Given the description of an element on the screen output the (x, y) to click on. 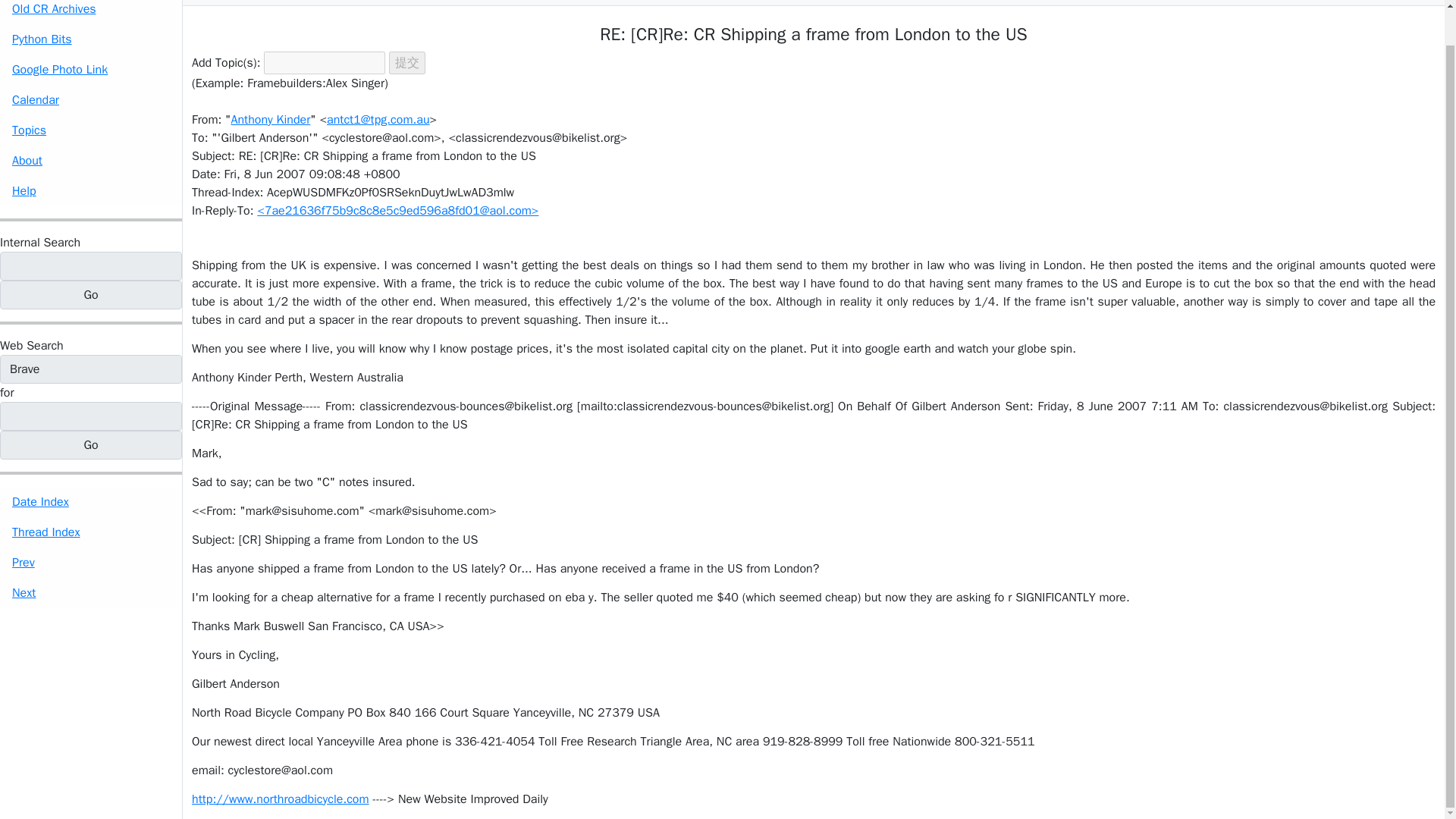
Old CR Archives (91, 12)
Calendar (91, 100)
Anthony Kinder (270, 119)
Go (91, 294)
About (91, 160)
Date Index (91, 501)
Enter a word or phrase to search the archive. (40, 242)
Python Bits (91, 39)
Go (91, 294)
Topics (91, 130)
